Given the description of an element on the screen output the (x, y) to click on. 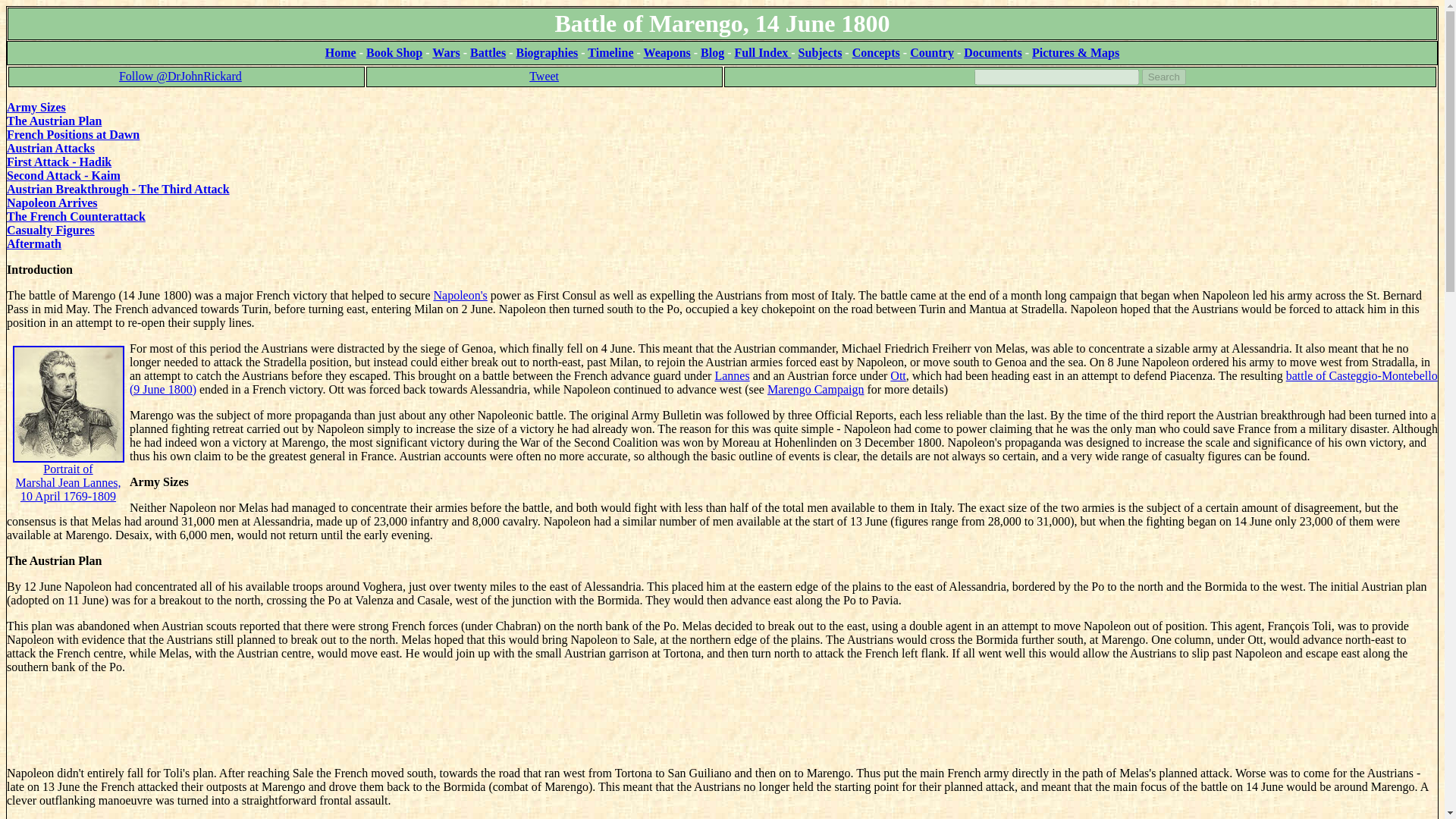
Search (1163, 76)
Special Subject Indexes (820, 51)
Index of articles on Battles (487, 51)
Timeline of Military History (610, 51)
indexes organised by country (931, 51)
Link to our discussion forum (1075, 51)
Lannes (731, 375)
Documents (992, 51)
Aftermath (34, 243)
Biographies (546, 51)
